Given the description of an element on the screen output the (x, y) to click on. 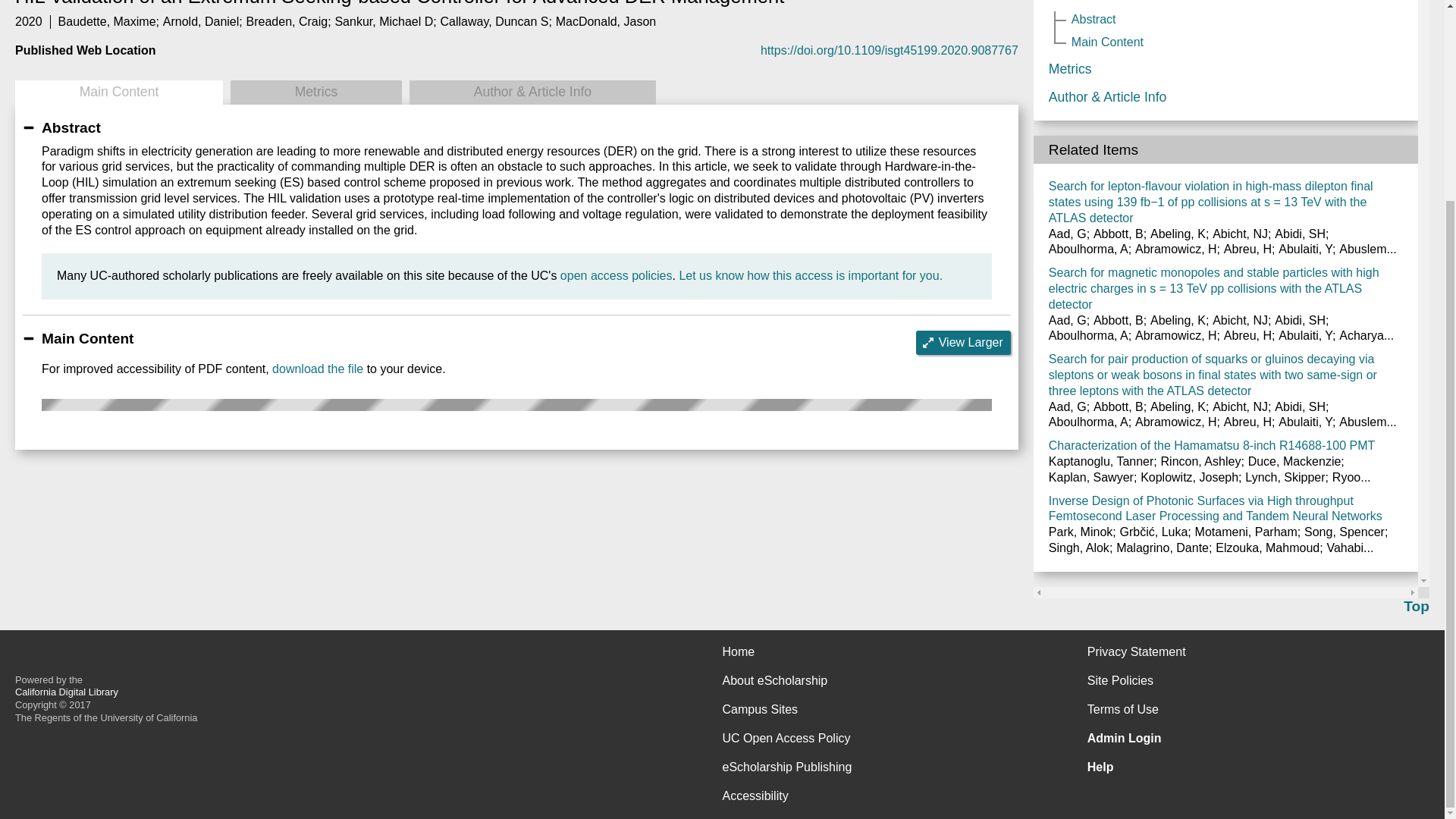
Let us know how this access is important for you. (810, 275)
Arnold, Daniel (201, 21)
Metrics (315, 92)
Sankur, Michael D (383, 21)
open access policies (616, 275)
Main Content (118, 92)
Baudette, Maxime (106, 21)
download the file (317, 368)
Callaway, Duncan S (494, 21)
MacDonald, Jason (606, 21)
Breaden, Craig (287, 21)
View Larger (962, 342)
